Given the description of an element on the screen output the (x, y) to click on. 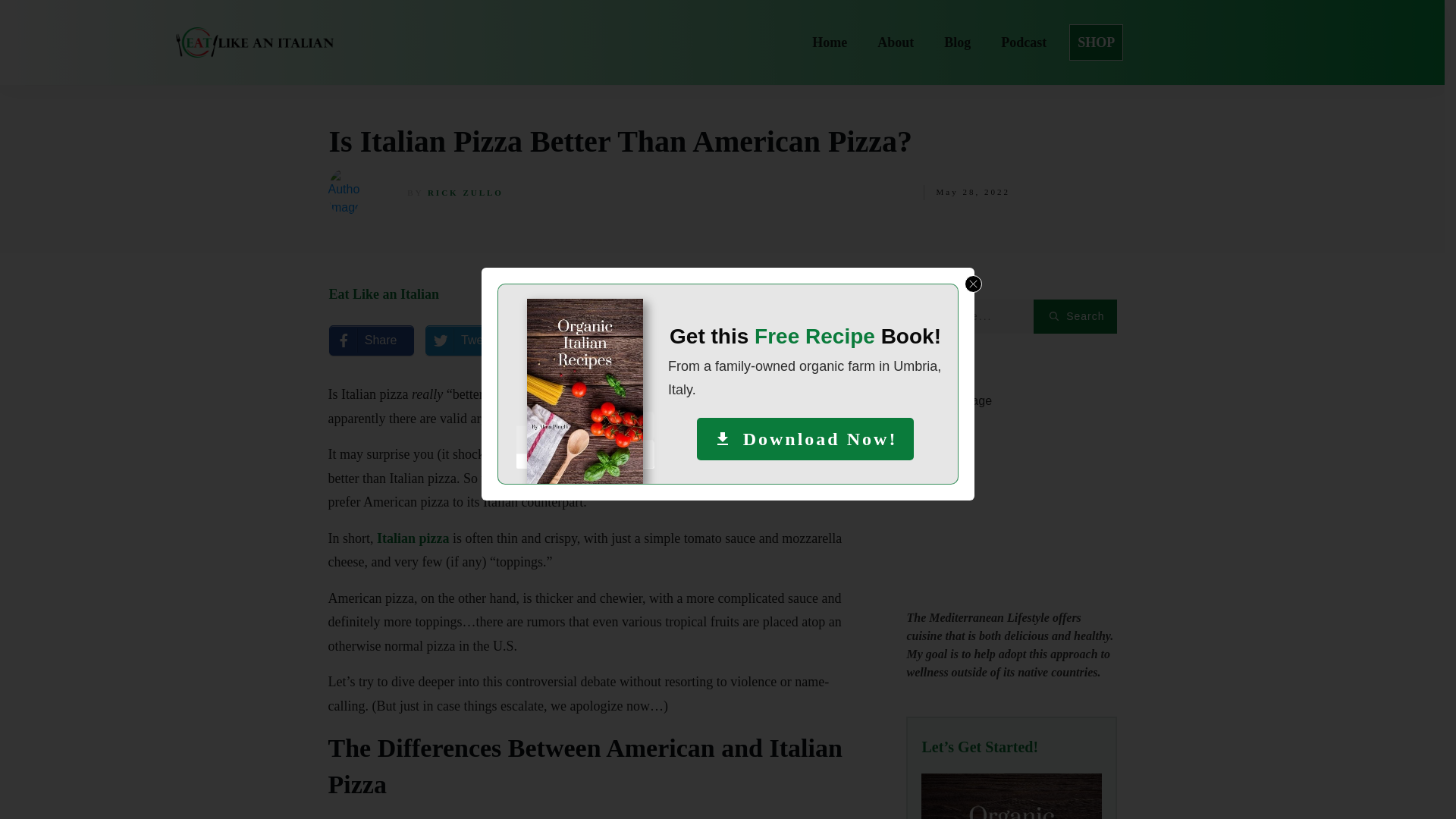
Search (1074, 316)
Share (638, 339)
SHOP (722, 42)
Eat Like an Italian (1096, 42)
organic italian recipes (384, 294)
undefined (1010, 796)
Home (1011, 496)
Pin (829, 42)
Is Italian Pizza Better Than American Pizza? (549, 339)
Eat Like an Italian (620, 141)
Podcast (384, 294)
About (1023, 42)
Tweet (895, 42)
Blog (460, 339)
